Given the description of an element on the screen output the (x, y) to click on. 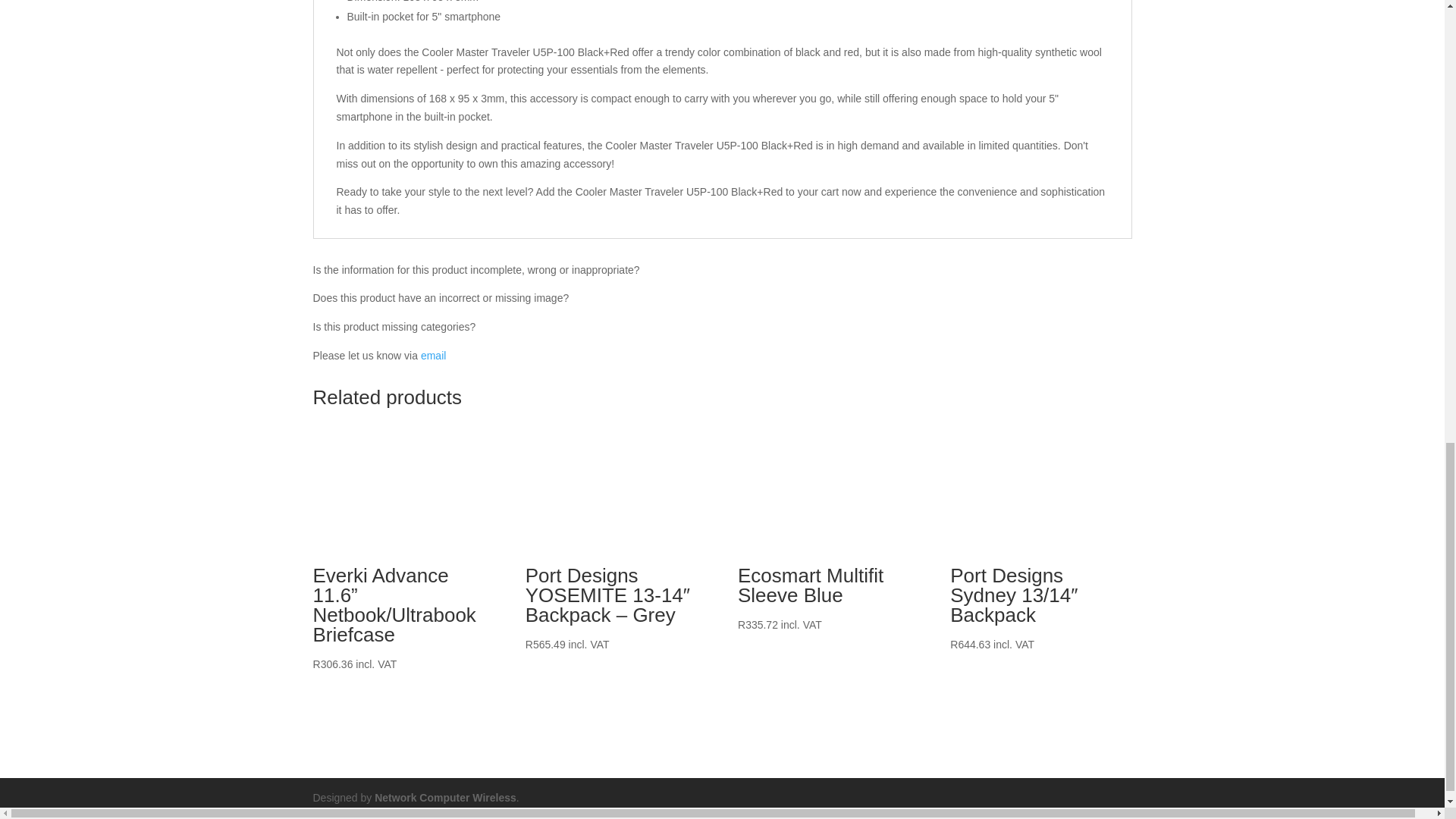
Wrong product details (432, 355)
